Given the description of an element on the screen output the (x, y) to click on. 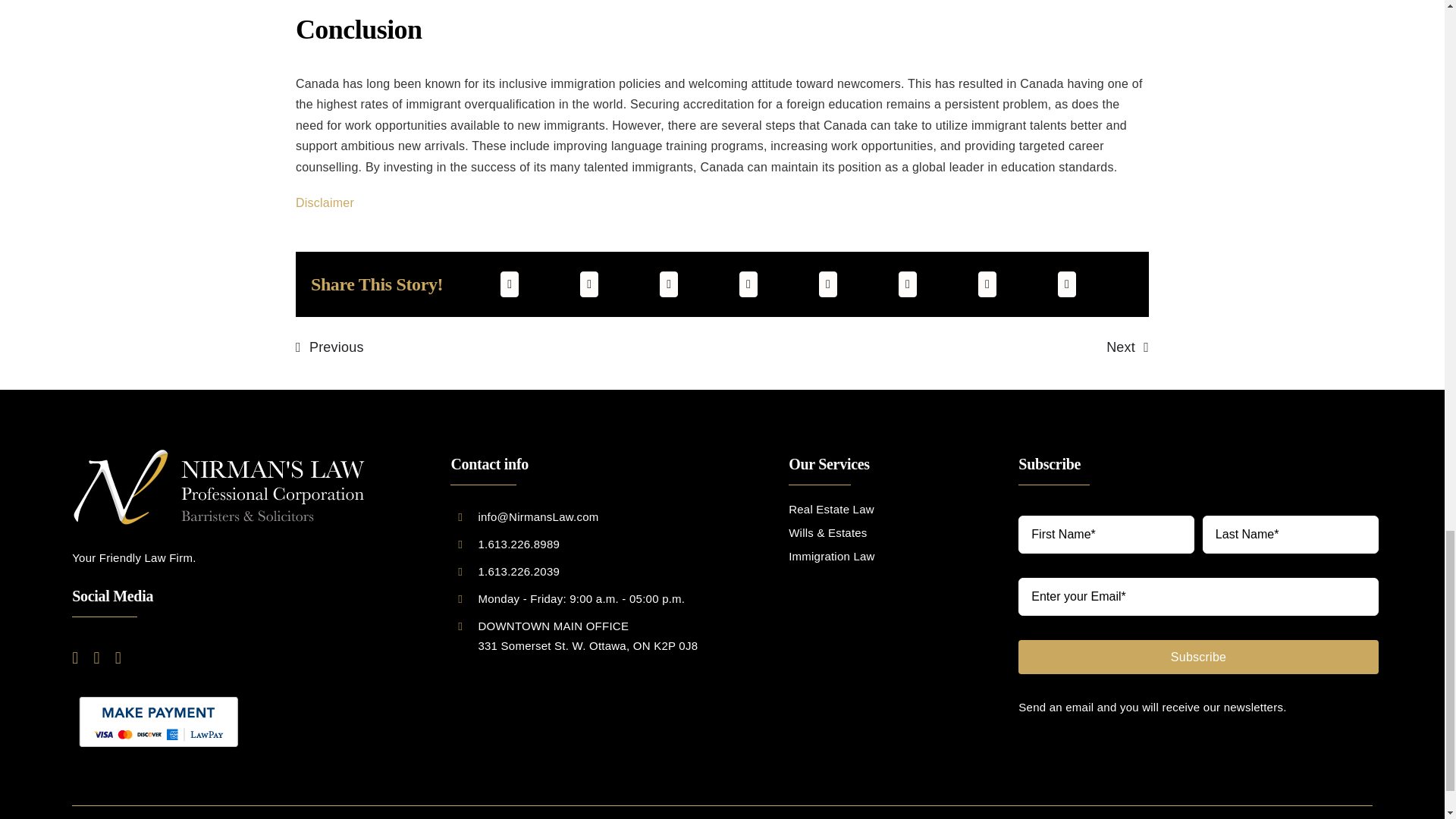
Subscribe (1194, 594)
Disclaimer (324, 202)
